Given the description of an element on the screen output the (x, y) to click on. 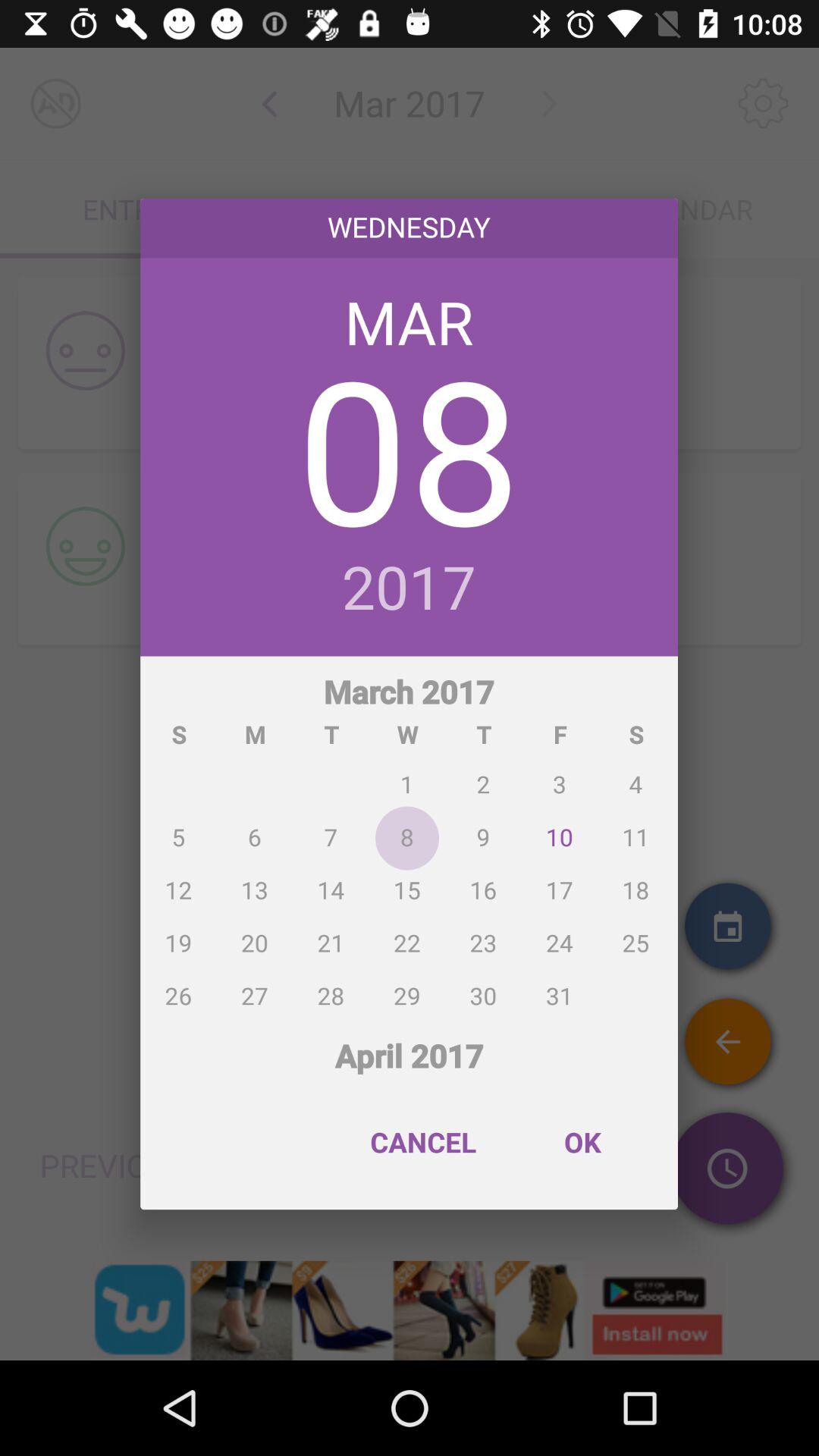
choose the app below the 08 icon (408, 589)
